Given the description of an element on the screen output the (x, y) to click on. 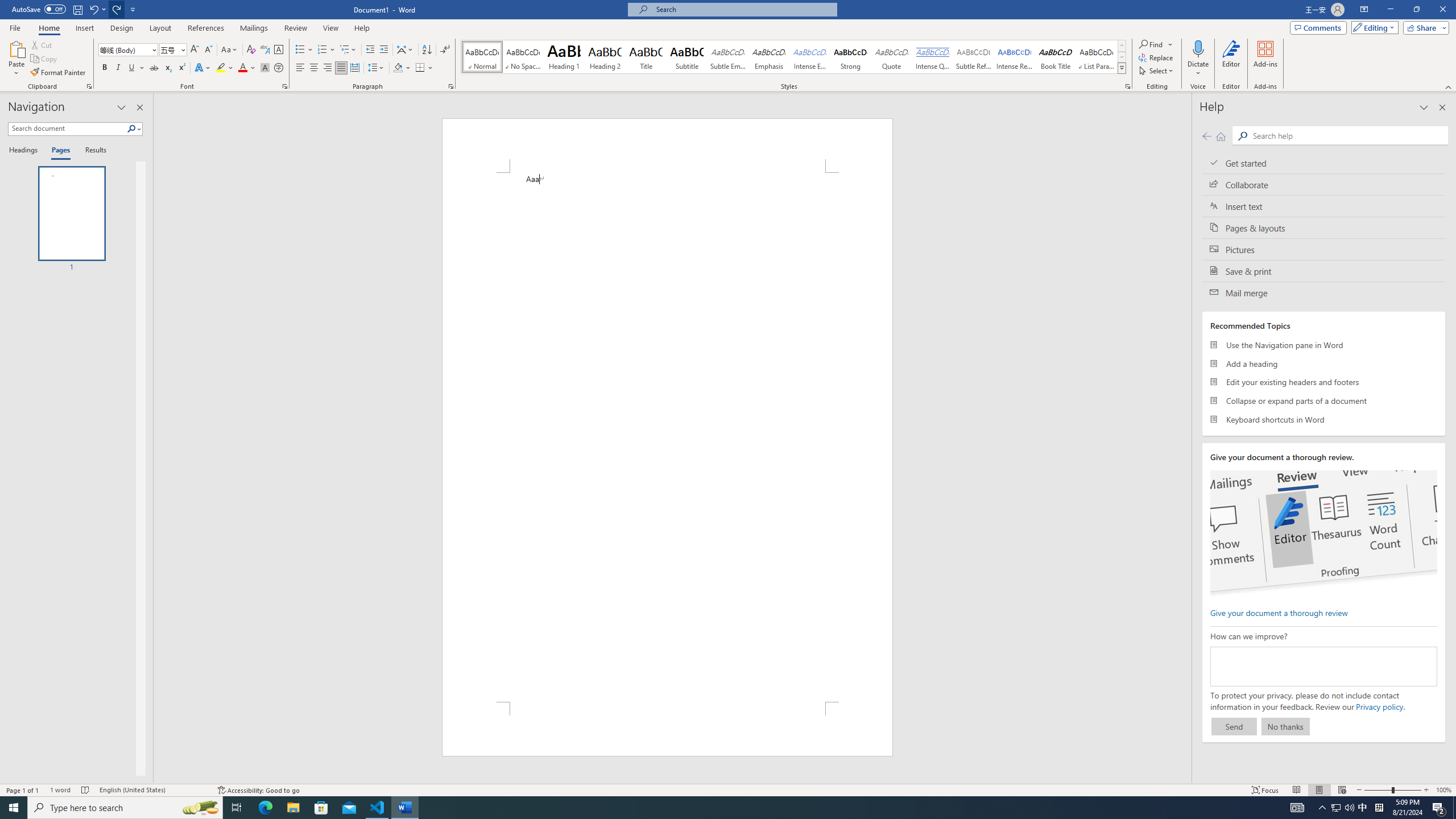
Quote (891, 56)
Print Layout (1318, 790)
Customize Quick Access Toolbar (133, 9)
Save & print (1323, 270)
Edit your existing headers and footers (1323, 381)
No thanks (1285, 726)
Borders (424, 67)
Copy (45, 58)
Dictate (1197, 58)
Select (1157, 69)
Title (646, 56)
Class: NetUIScrollBar (1186, 437)
Privacy policy (1379, 706)
Collapse the Ribbon (1448, 86)
Keyboard shortcuts in Word (1323, 419)
